Given the description of an element on the screen output the (x, y) to click on. 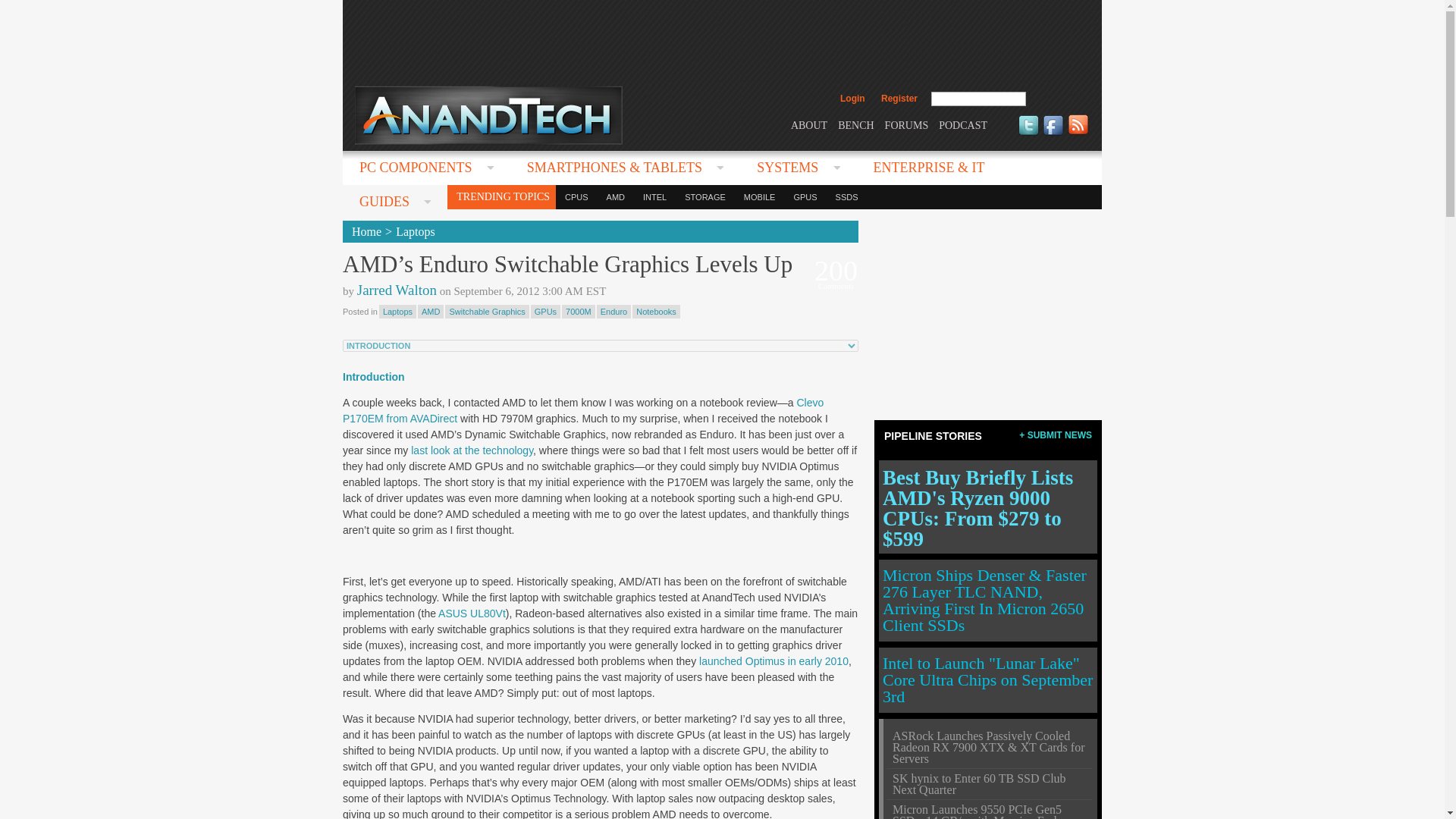
FORUMS (906, 125)
Login (852, 98)
search (1059, 98)
PODCAST (963, 125)
ABOUT (808, 125)
BENCH (855, 125)
search (1059, 98)
Register (898, 98)
search (1059, 98)
